Given the description of an element on the screen output the (x, y) to click on. 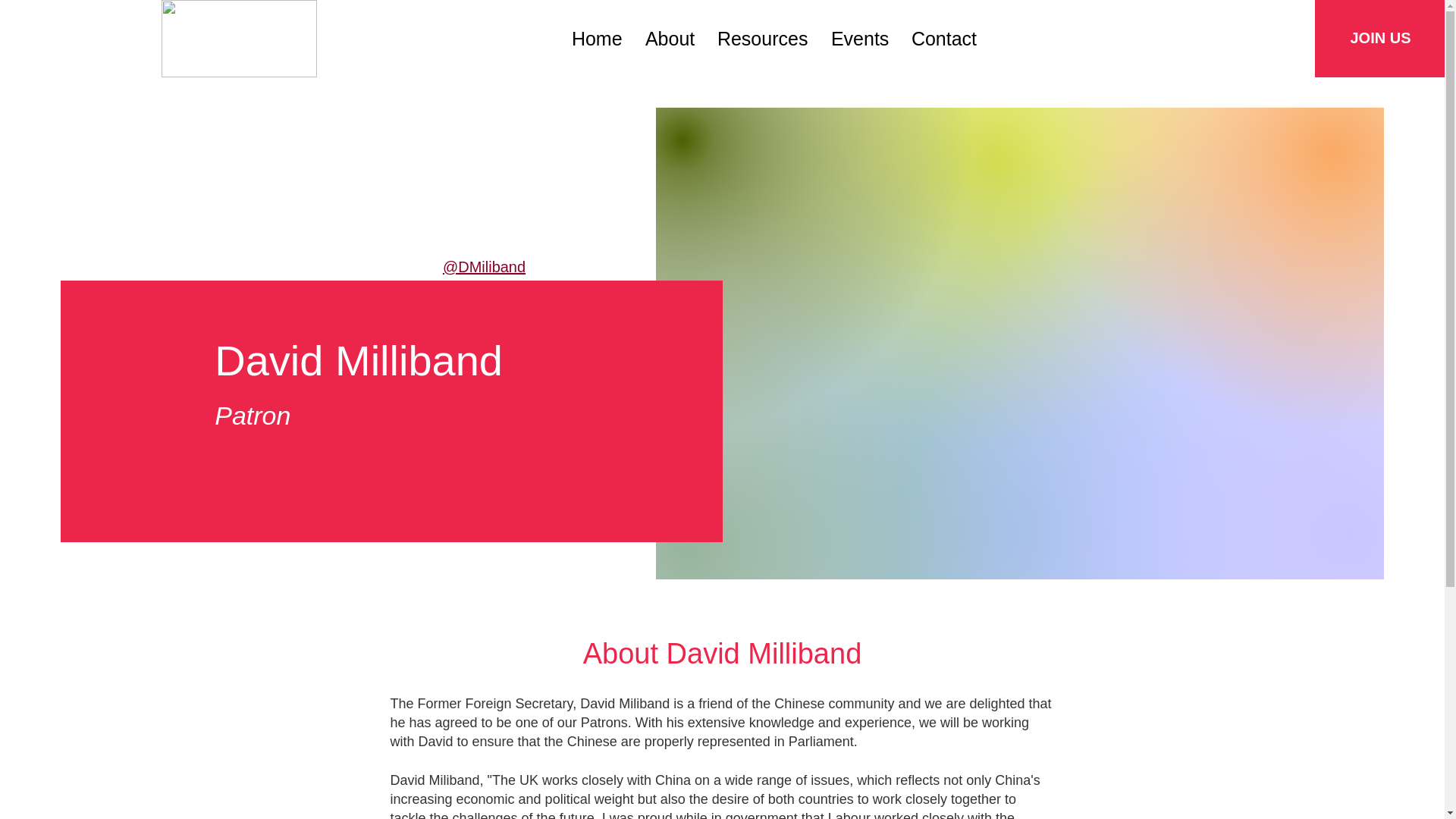
Events (859, 38)
Resources (762, 38)
Home (596, 38)
JOIN US (1379, 37)
1111.png (239, 38)
